Given the description of an element on the screen output the (x, y) to click on. 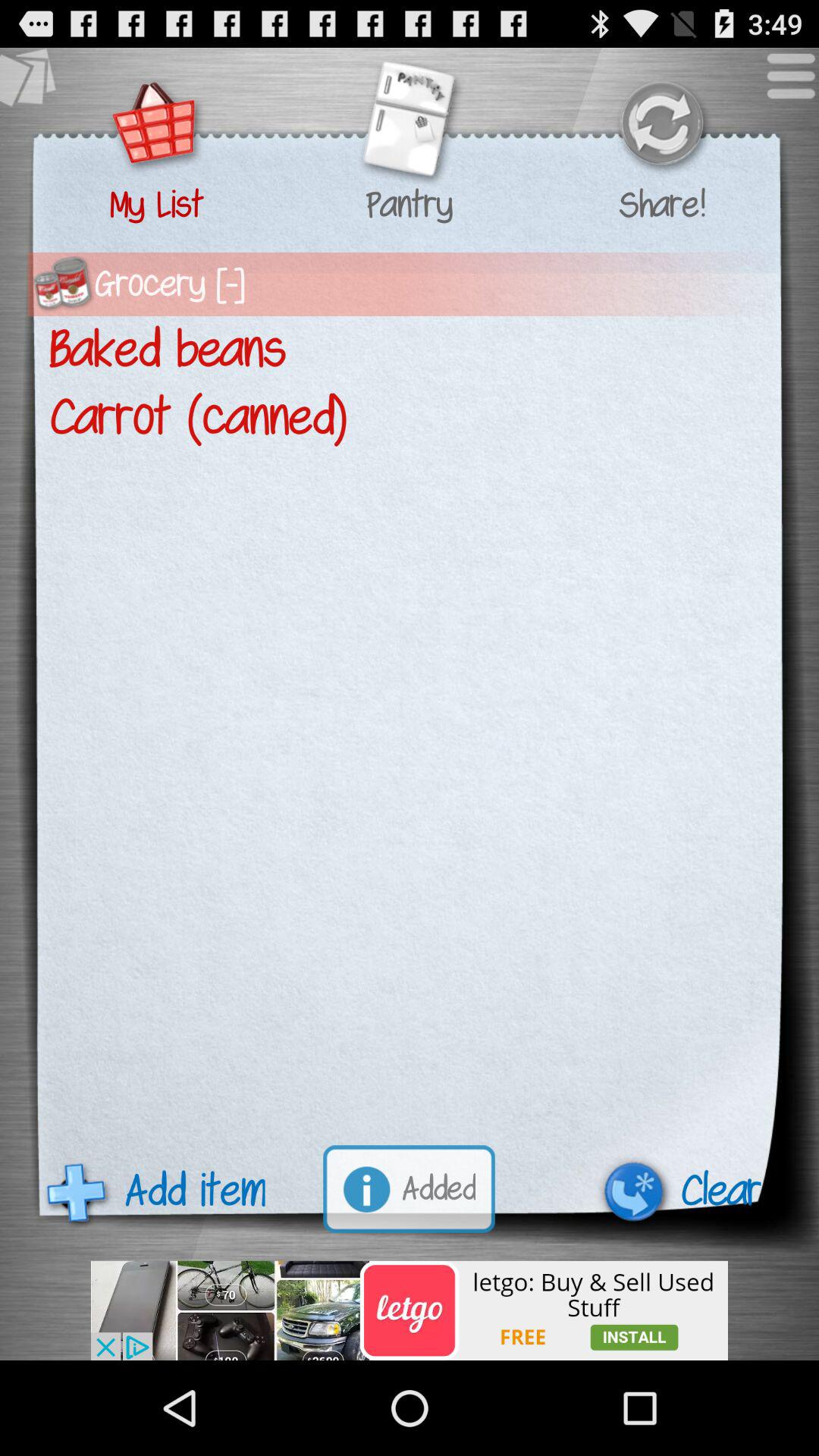
refresh (661, 125)
